Given the description of an element on the screen output the (x, y) to click on. 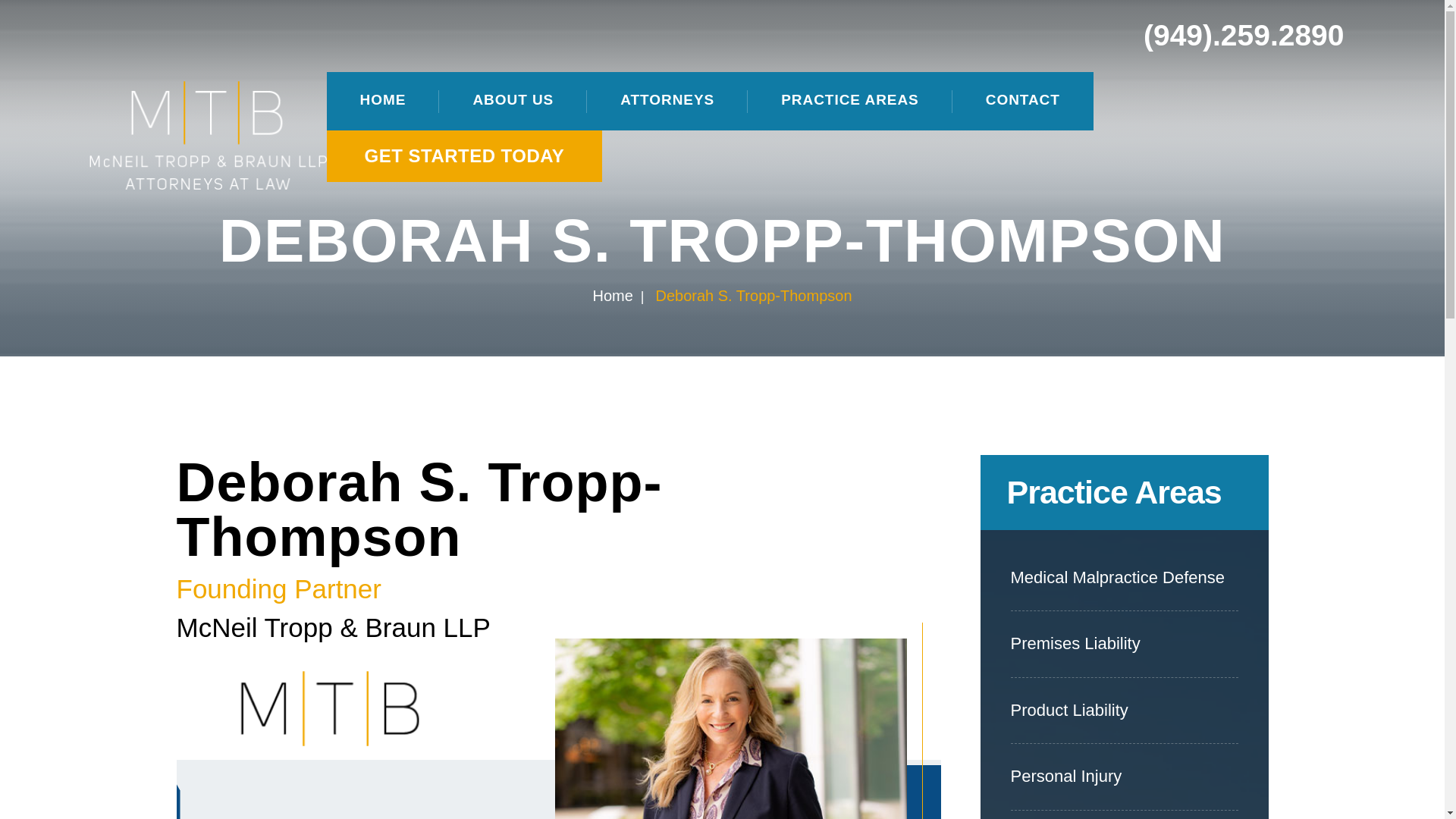
GET STARTED TODAY (464, 155)
CONTACT (1023, 101)
PRACTICE AREAS (849, 101)
Home (611, 295)
ATTORNEYS (667, 101)
ABOUT US (513, 101)
HOME (383, 101)
Go to MTB LLP. (611, 295)
